Given the description of an element on the screen output the (x, y) to click on. 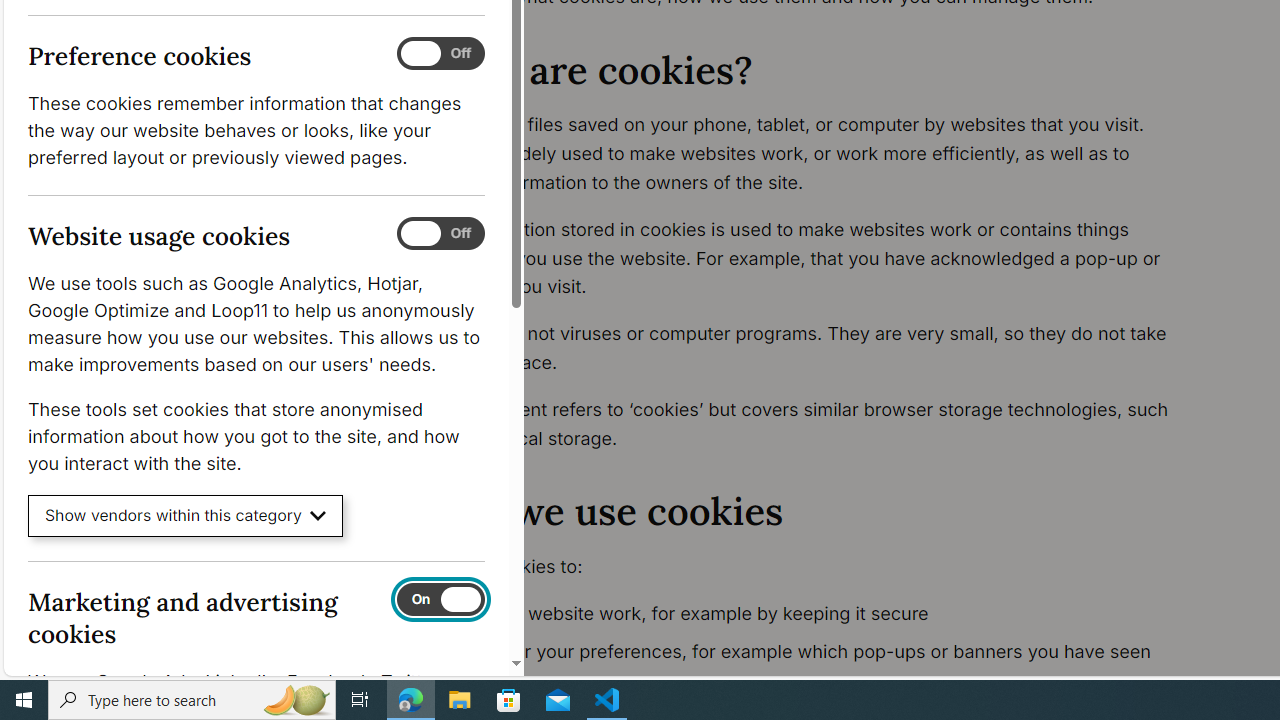
Show vendors within this category (185, 516)
make our website work, for example by keeping it secure (818, 614)
Website usage cookies (440, 233)
Marketing and advertising cookies (440, 599)
Preference cookies (440, 53)
